Given the description of an element on the screen output the (x, y) to click on. 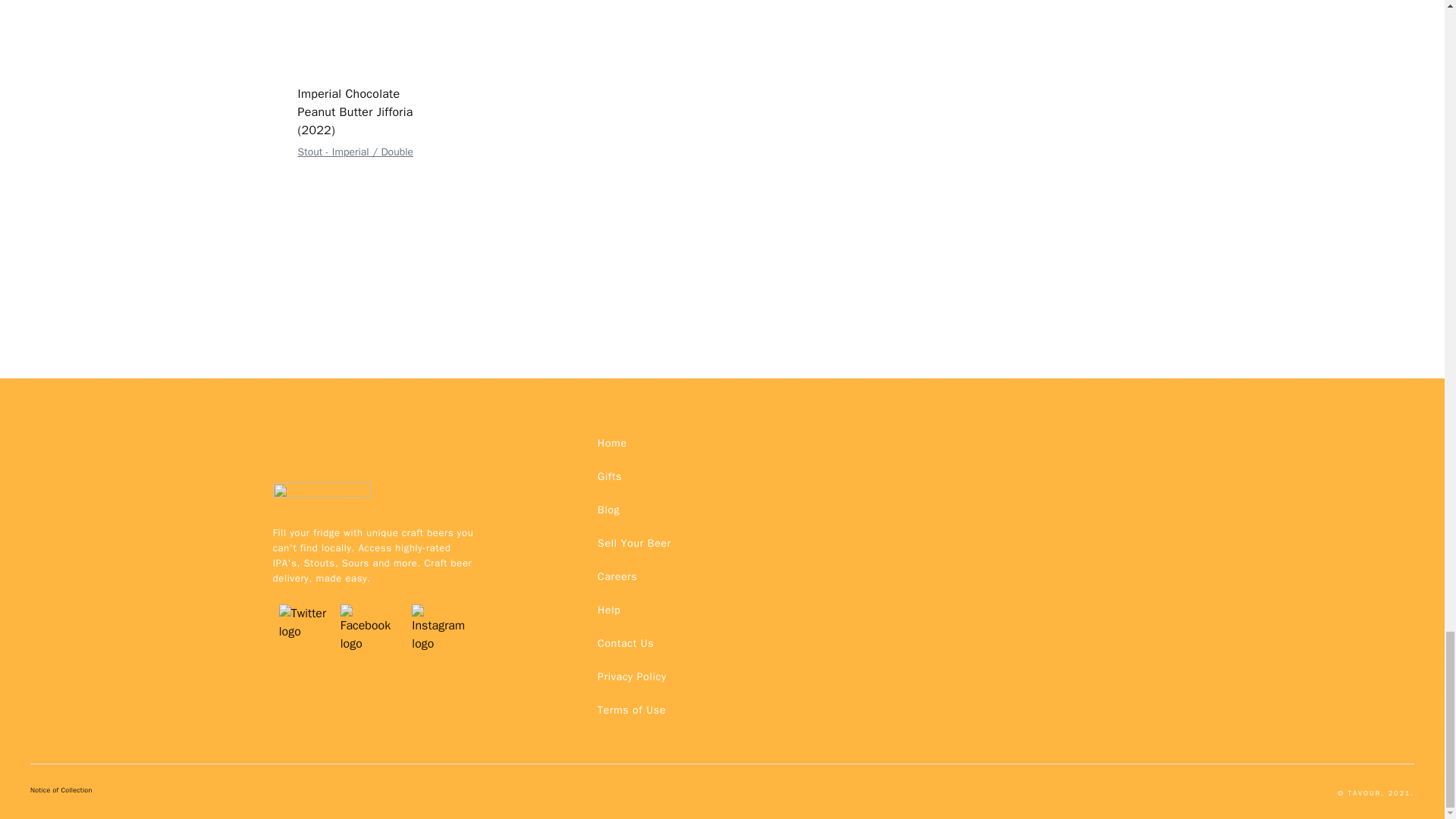
blog (608, 510)
Twitter (303, 604)
Instagram (442, 604)
FAQ (631, 676)
FAQ (625, 643)
Careers (617, 576)
Facebook (370, 604)
FAQ (631, 710)
Help (608, 610)
home (612, 443)
